Given the description of an element on the screen output the (x, y) to click on. 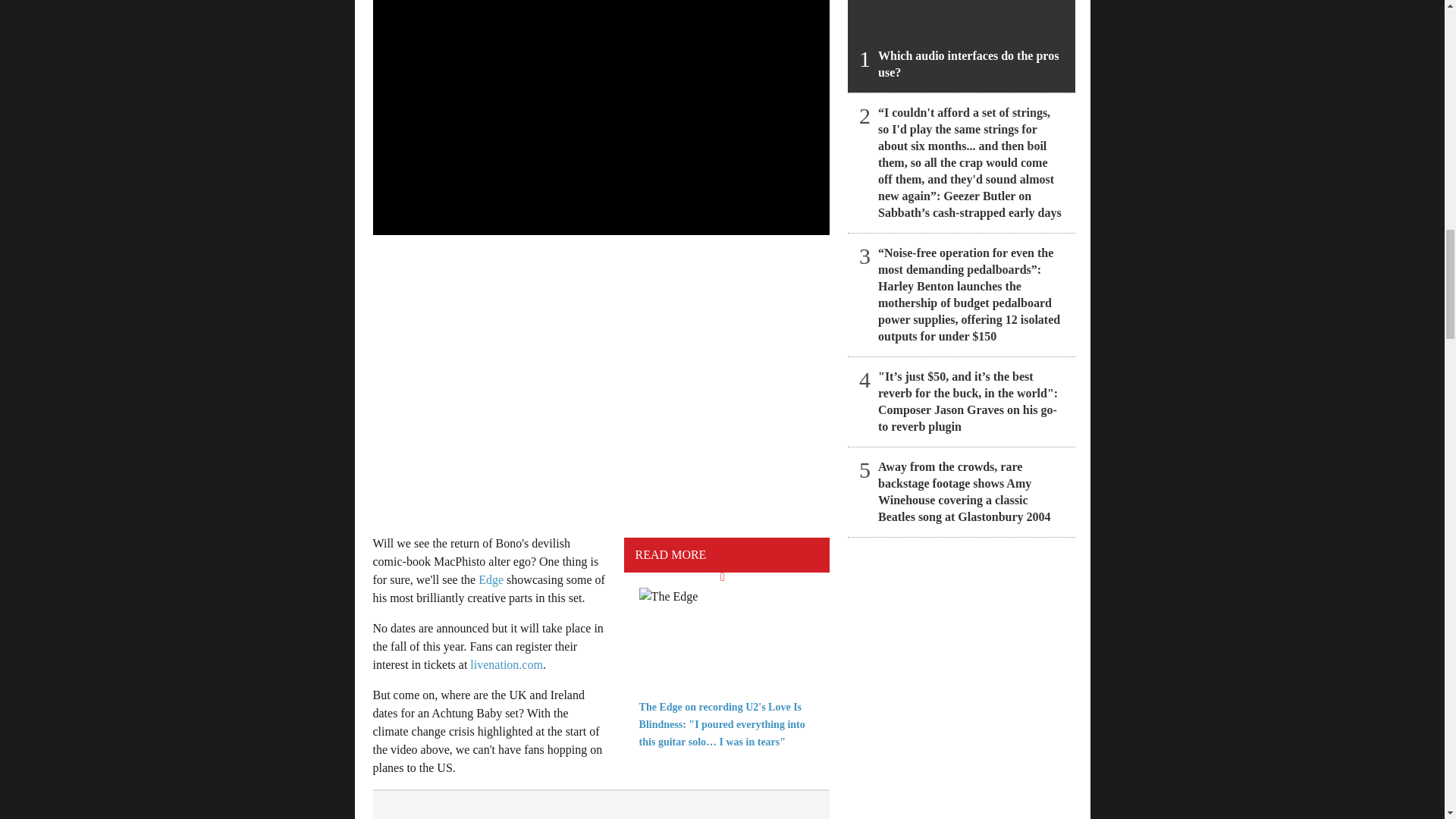
Which audio interfaces do the pros use? (961, 46)
